Given the description of an element on the screen output the (x, y) to click on. 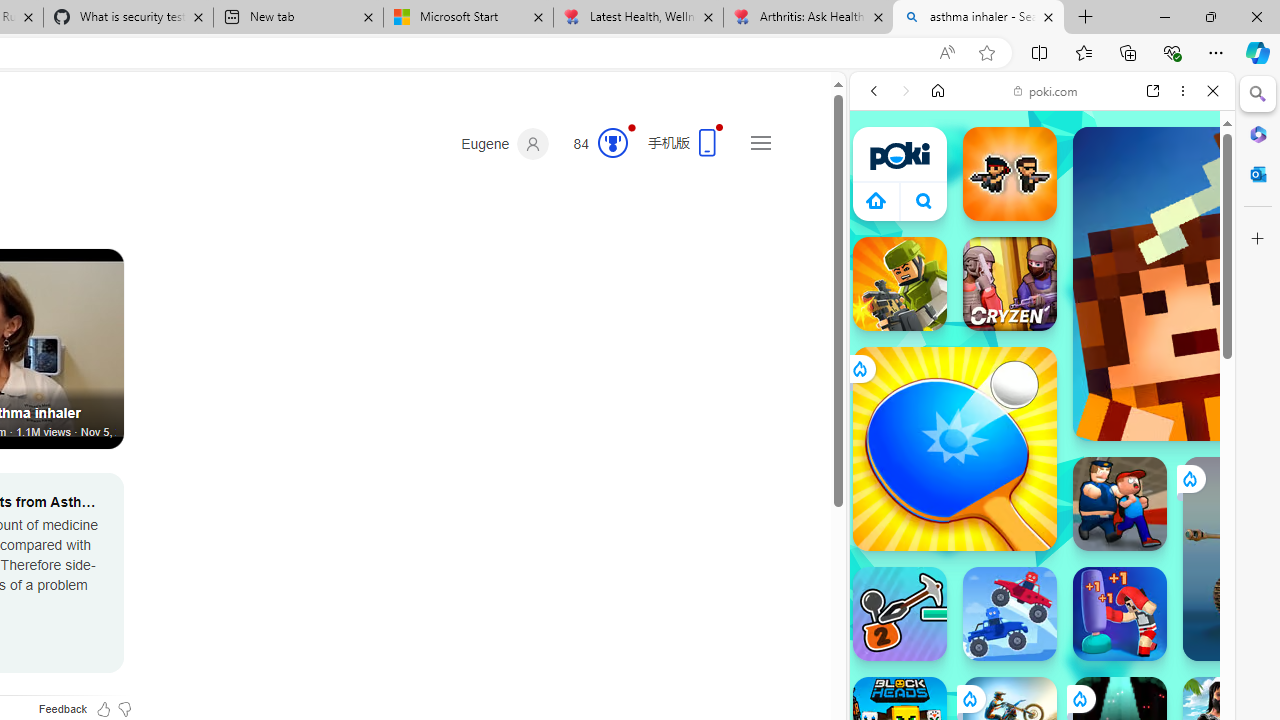
Show More Car Games (1164, 472)
Escape From School (1119, 503)
Ping Pong Go! Ping Pong Go! (954, 448)
Zombie Rush Zombie Rush (1009, 173)
Sports Games (1042, 666)
Eugene (505, 143)
